Given the description of an element on the screen output the (x, y) to click on. 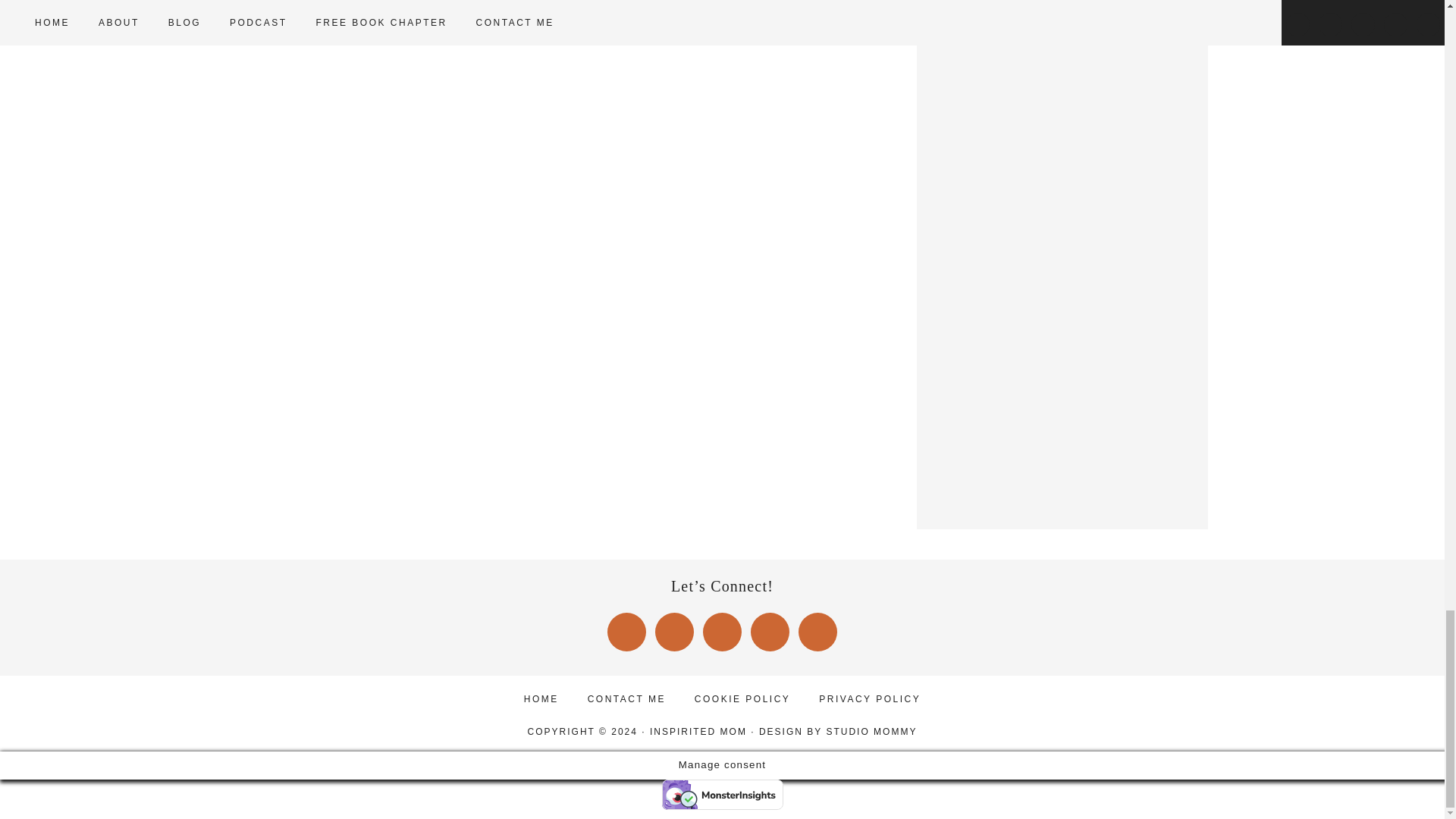
Verified by MonsterInsights (722, 794)
